Given the description of an element on the screen output the (x, y) to click on. 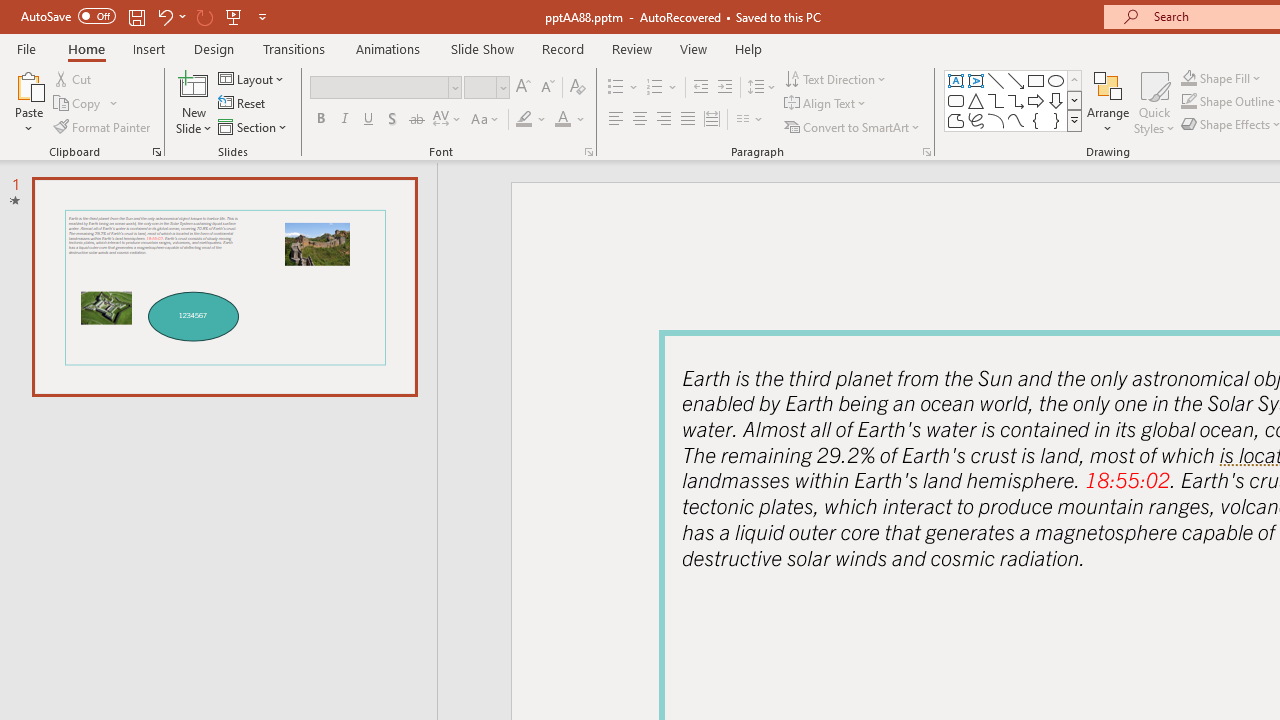
Quick Styles (1154, 102)
Justify (687, 119)
Align Right (663, 119)
Underline (369, 119)
Arrow: Right (1035, 100)
Center (639, 119)
Distributed (712, 119)
Change Case (486, 119)
